Given the description of an element on the screen output the (x, y) to click on. 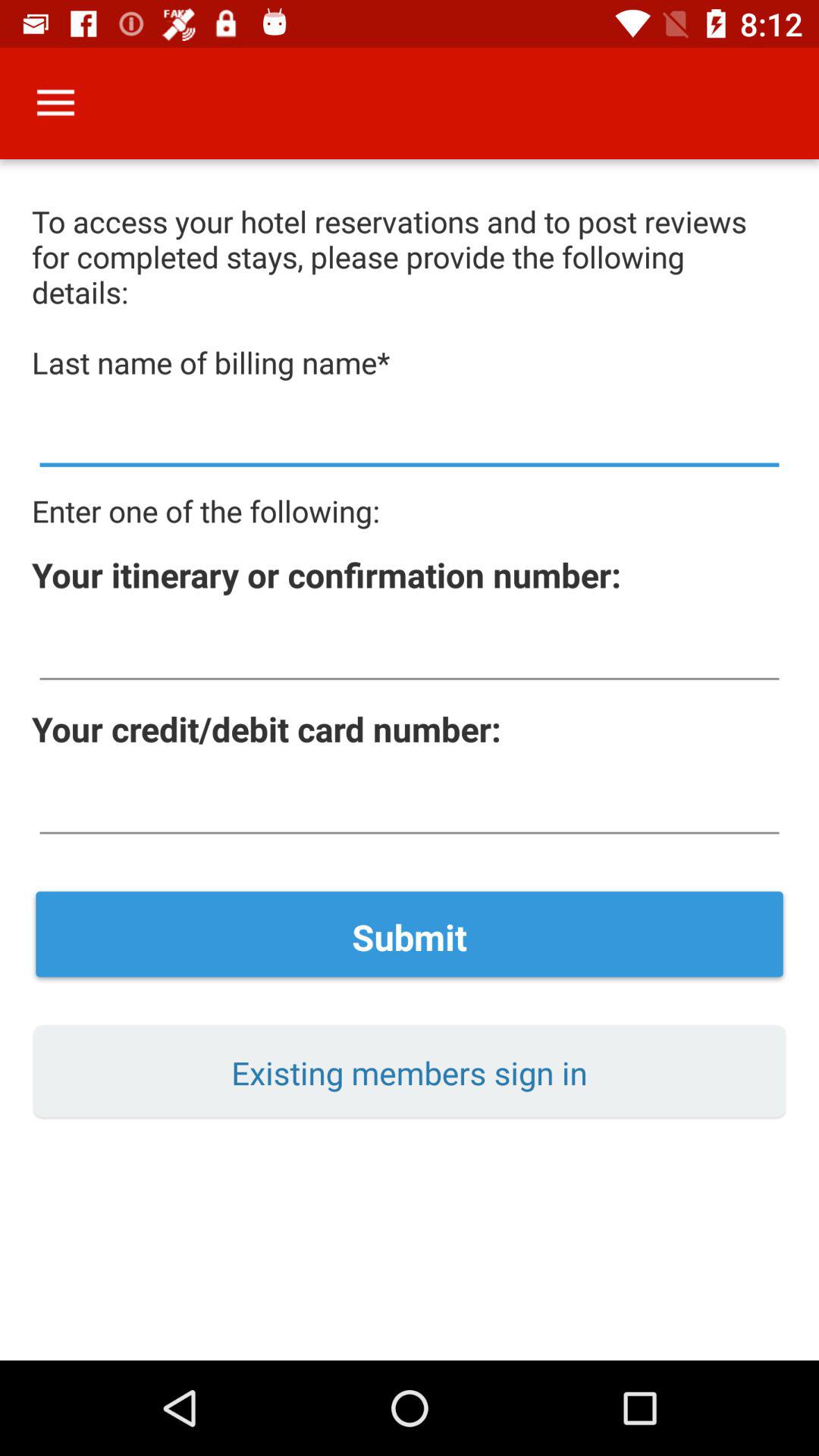
jump until the existing members sign (409, 1072)
